Given the description of an element on the screen output the (x, y) to click on. 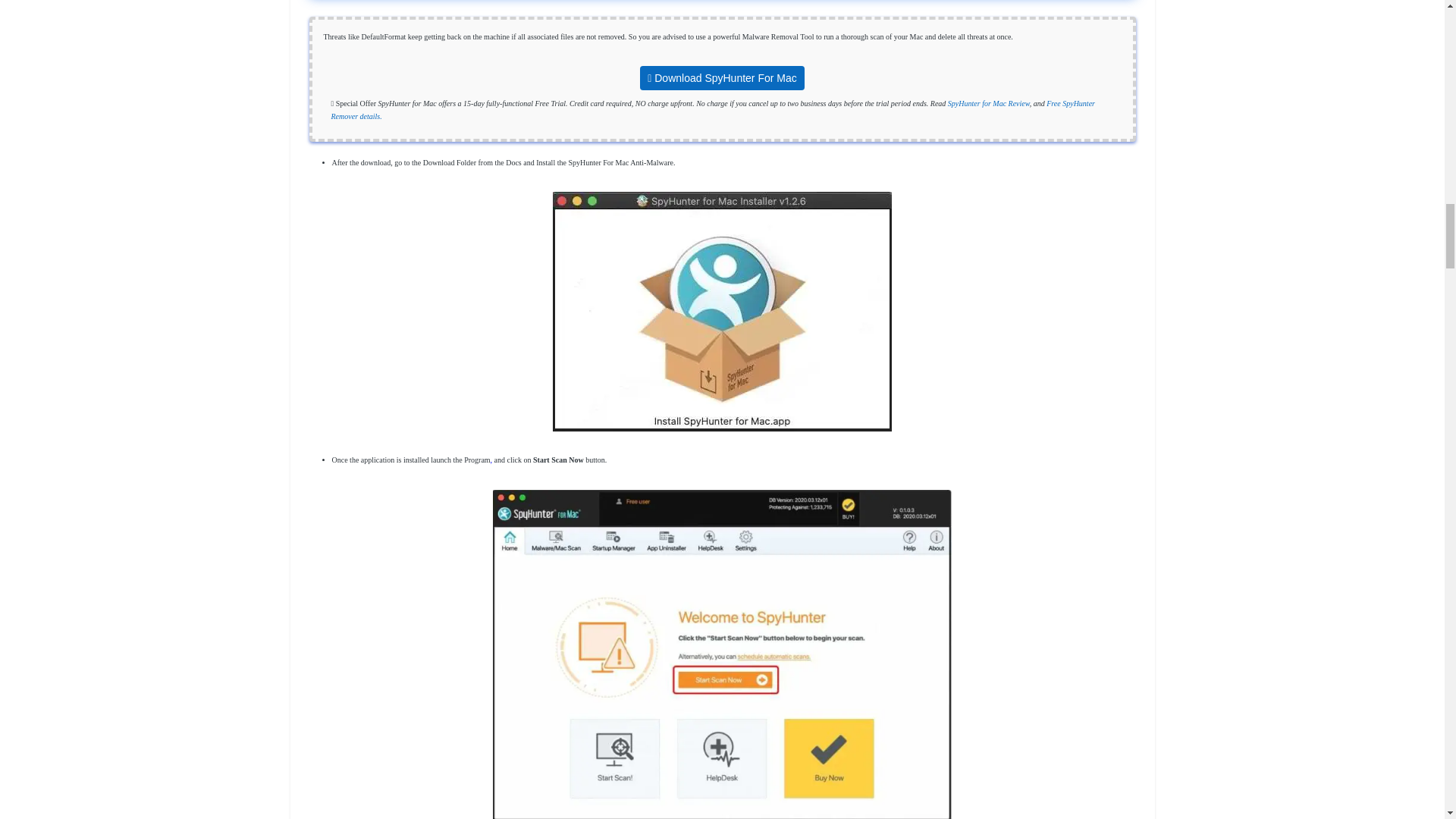
Download SpyHunter For Mac (722, 78)
Free SpyHunter Remover details. (712, 109)
SpyHunter for Mac Review (988, 103)
Download SpyHunter For Mac (722, 79)
